Given the description of an element on the screen output the (x, y) to click on. 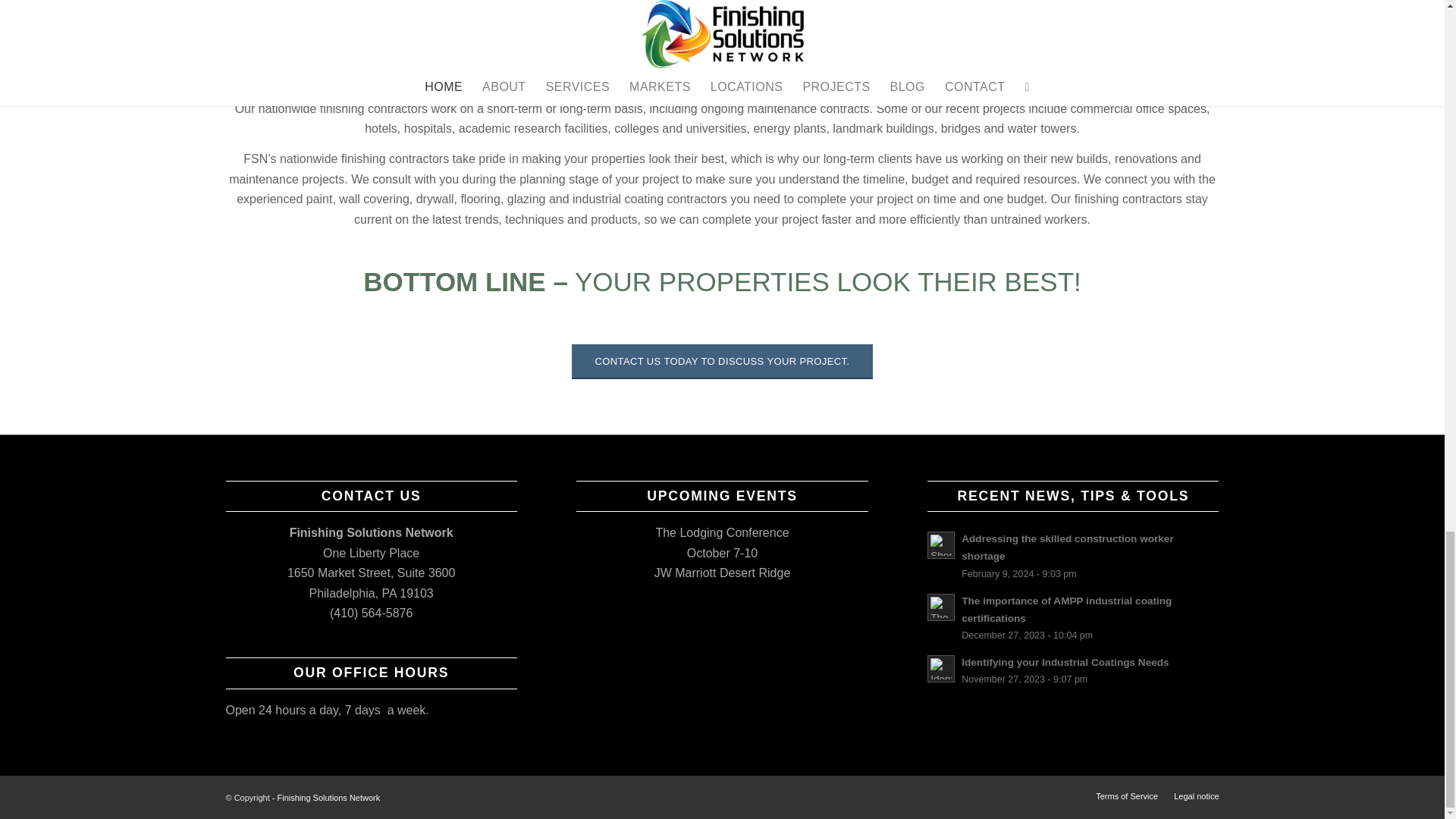
Read: Identifying your Industrial Coatings Needs (941, 668)
Read: Identifying your Industrial Coatings Needs (1064, 662)
The Lodging Conference (722, 532)
Read: Addressing the skilled construction worker shortage (1066, 547)
Read: Addressing the skilled construction worker shortage (941, 544)
CONTACT US TODAY TO DISCUSS YOUR PROJECT. (722, 361)
